Given the description of an element on the screen output the (x, y) to click on. 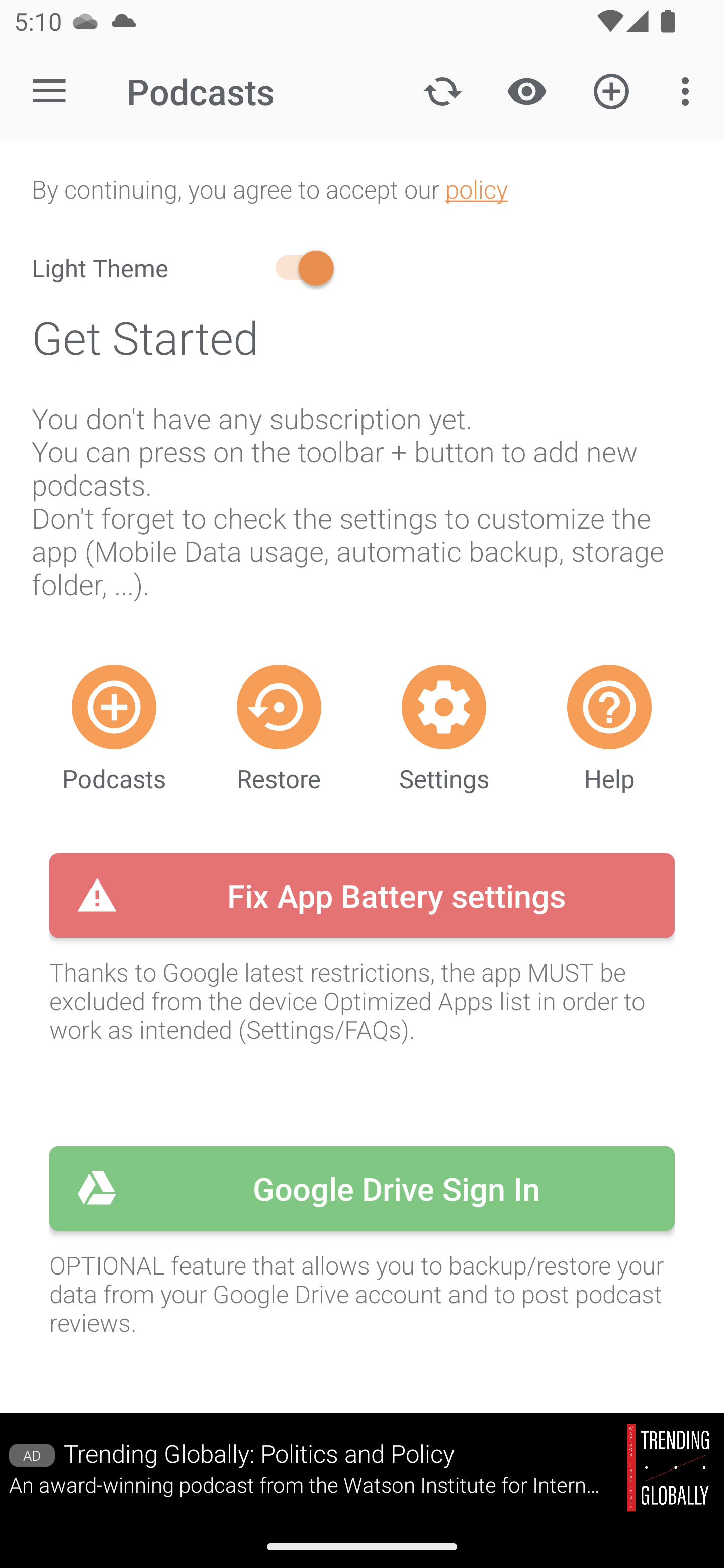
Open navigation sidebar (49, 91)
Update (442, 90)
Show / Hide played content (526, 90)
Add new Podcast (611, 90)
More options (688, 90)
Light Theme (185, 267)
RSS (113, 706)
RSS (278, 706)
RSS (443, 706)
RSS (608, 706)
Fix App Battery settings (361, 894)
Google Drive Sign In (361, 1188)
